Given the description of an element on the screen output the (x, y) to click on. 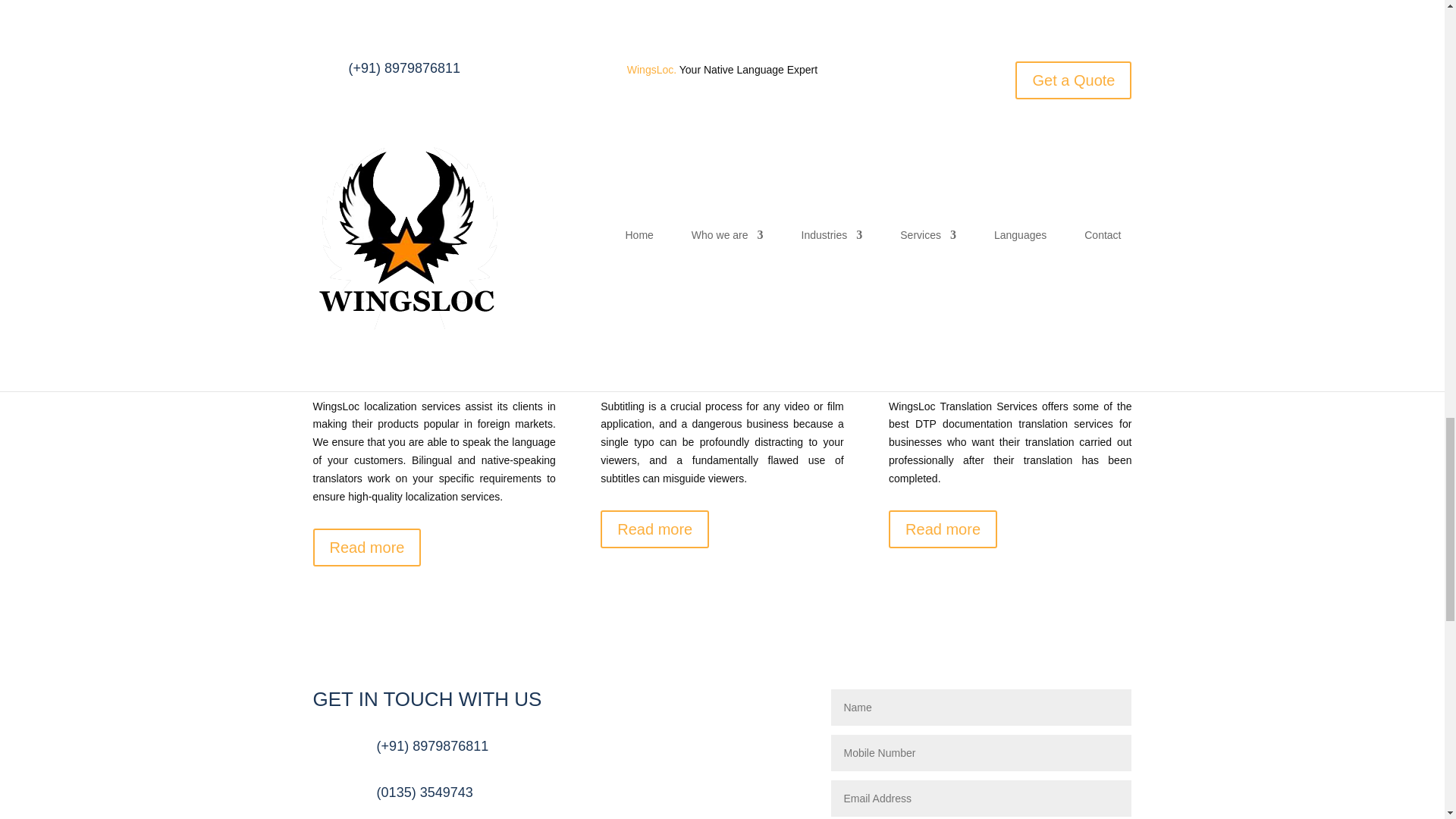
Read more (942, 528)
Read more (654, 528)
Read more (654, 257)
Read more (366, 239)
Read more (942, 257)
Read more (366, 547)
Localization (346, 323)
Transcription (635, 33)
Language-Translation (369, 33)
Multilingual Voice Over (948, 33)
DTP (939, 323)
subtitling (627, 323)
